Given the description of an element on the screen output the (x, y) to click on. 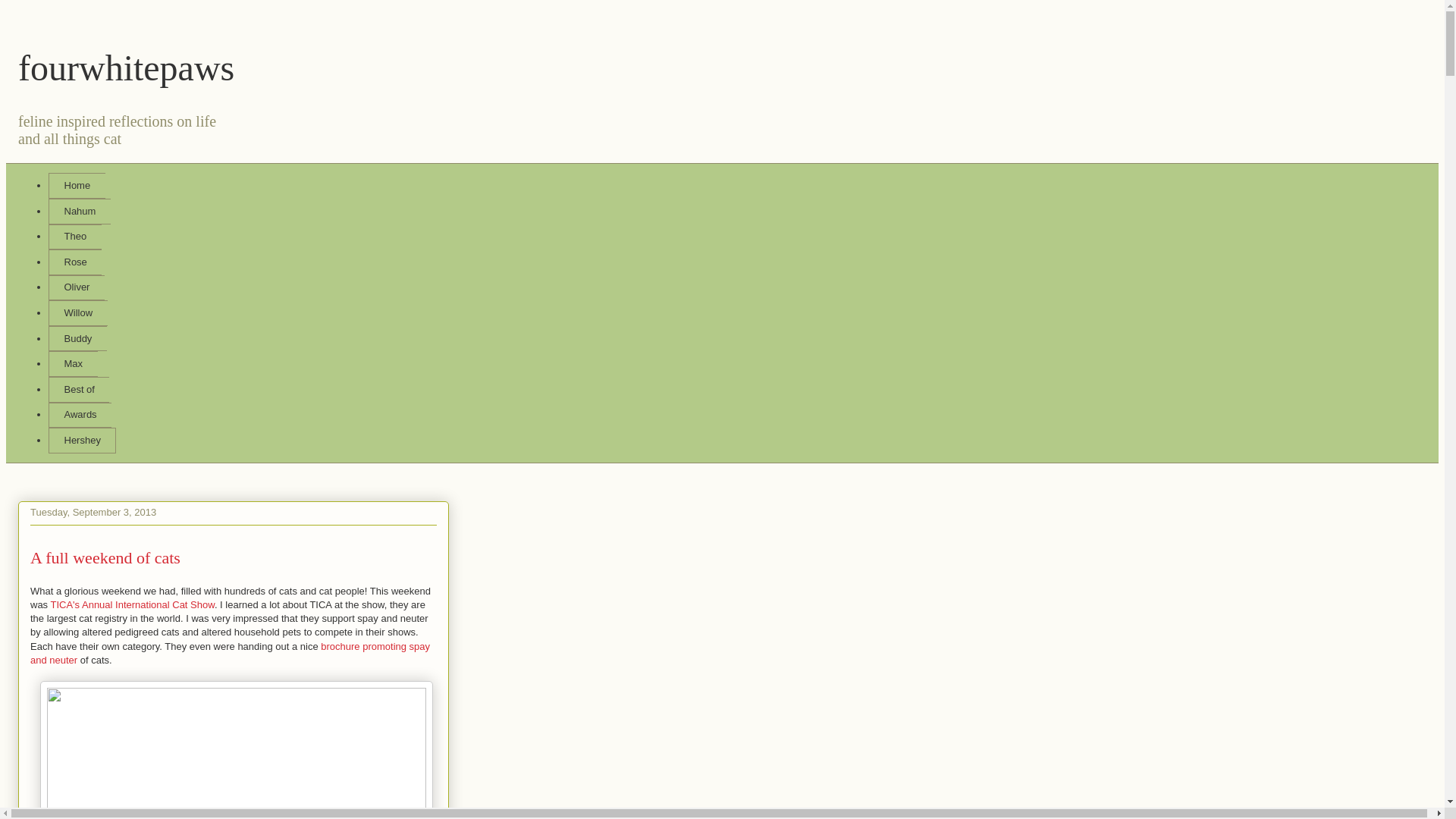
Oliver (76, 288)
brochure promoting spay and neuter (229, 652)
Home (76, 185)
Best of (78, 389)
Nahum (79, 211)
Hershey (82, 440)
Buddy (77, 338)
TICA's Annual International Cat Show (131, 604)
Awards (80, 415)
Rose (74, 262)
